Given the description of an element on the screen output the (x, y) to click on. 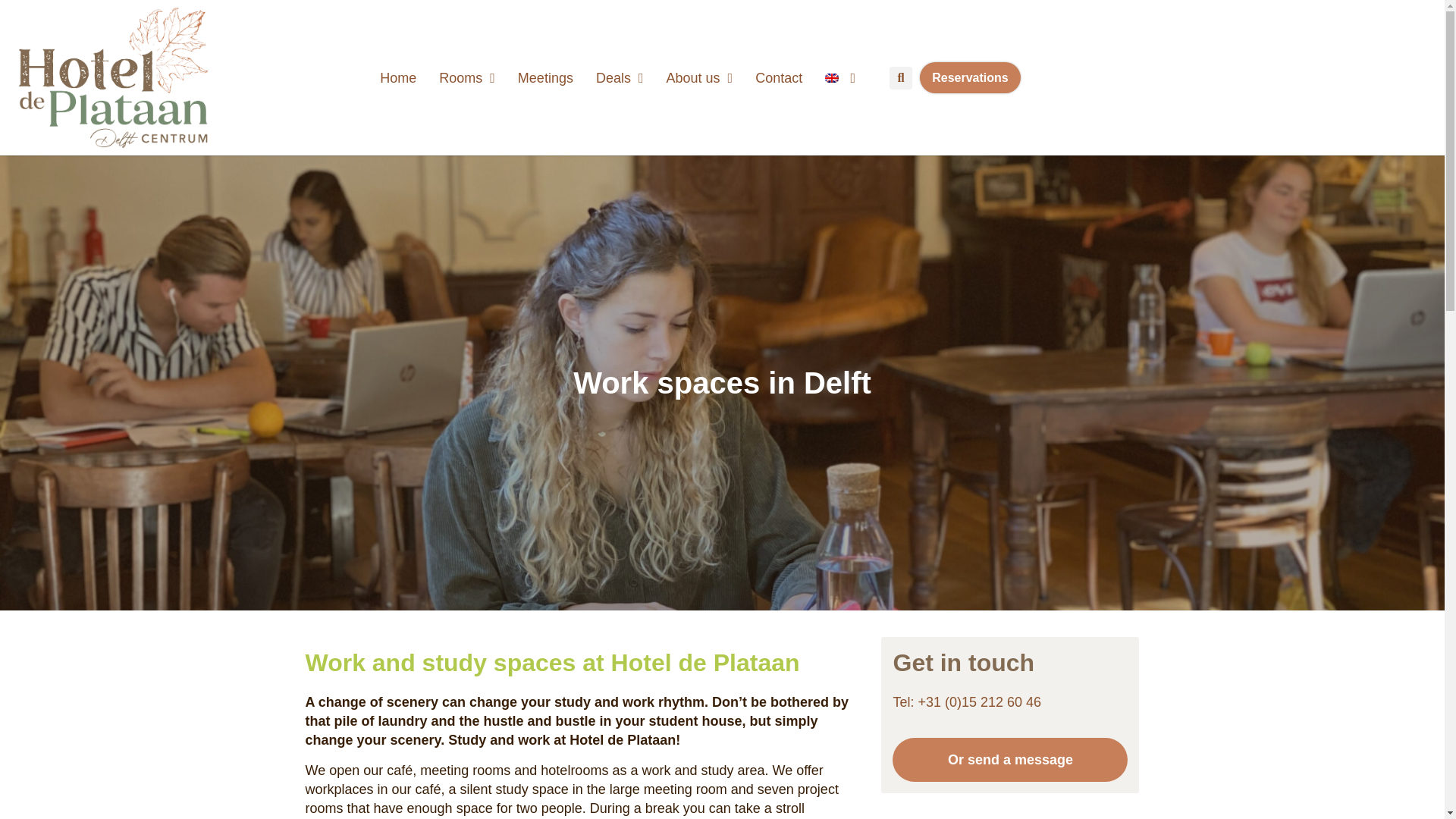
About us (699, 77)
Rooms (467, 77)
Home (398, 77)
Meetings (545, 77)
Deals (620, 77)
